Given the description of an element on the screen output the (x, y) to click on. 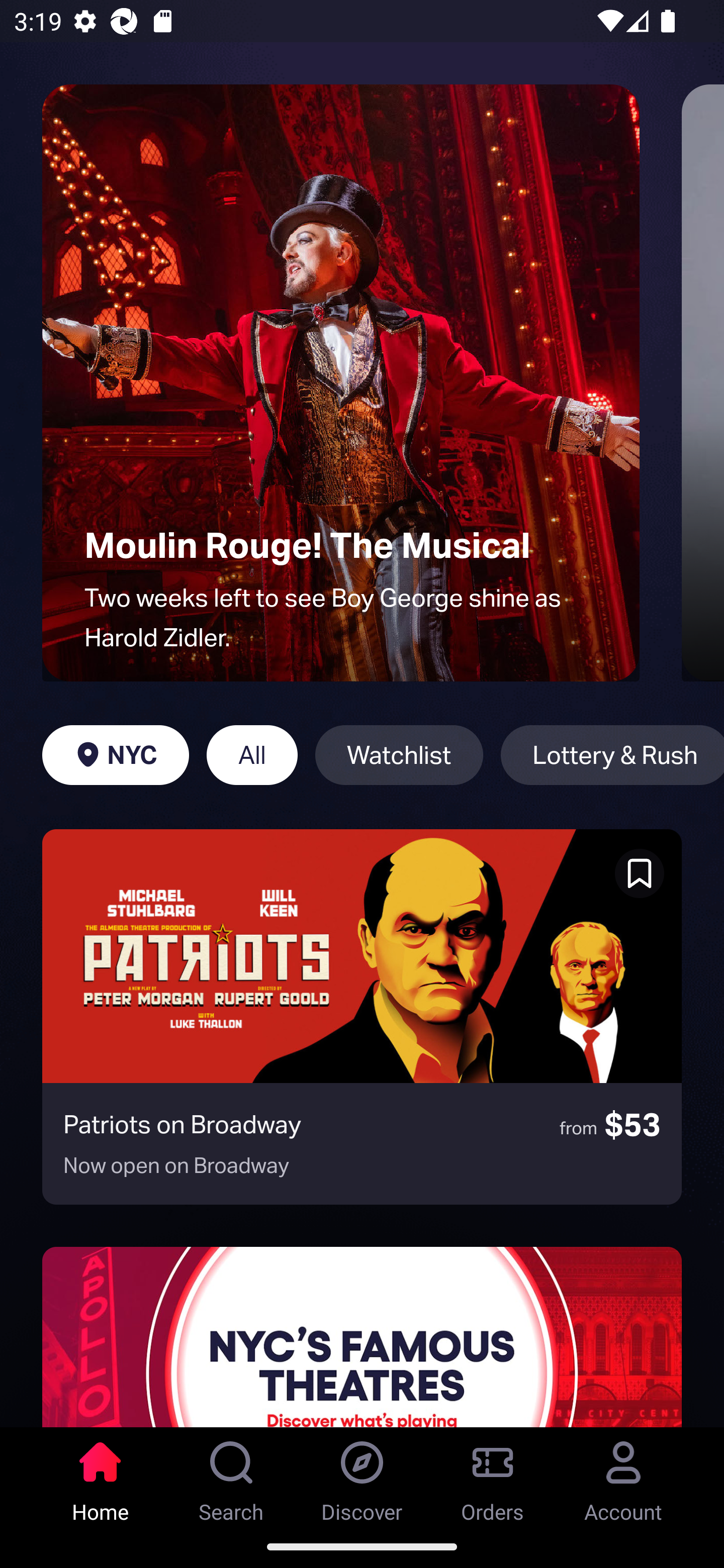
NYC (114, 754)
All (251, 754)
Watchlist (398, 754)
Lottery & Rush (612, 754)
Patriots on Broadway from $53 Now open on Broadway (361, 1016)
Search (230, 1475)
Discover (361, 1475)
Orders (492, 1475)
Account (623, 1475)
